Given the description of an element on the screen output the (x, y) to click on. 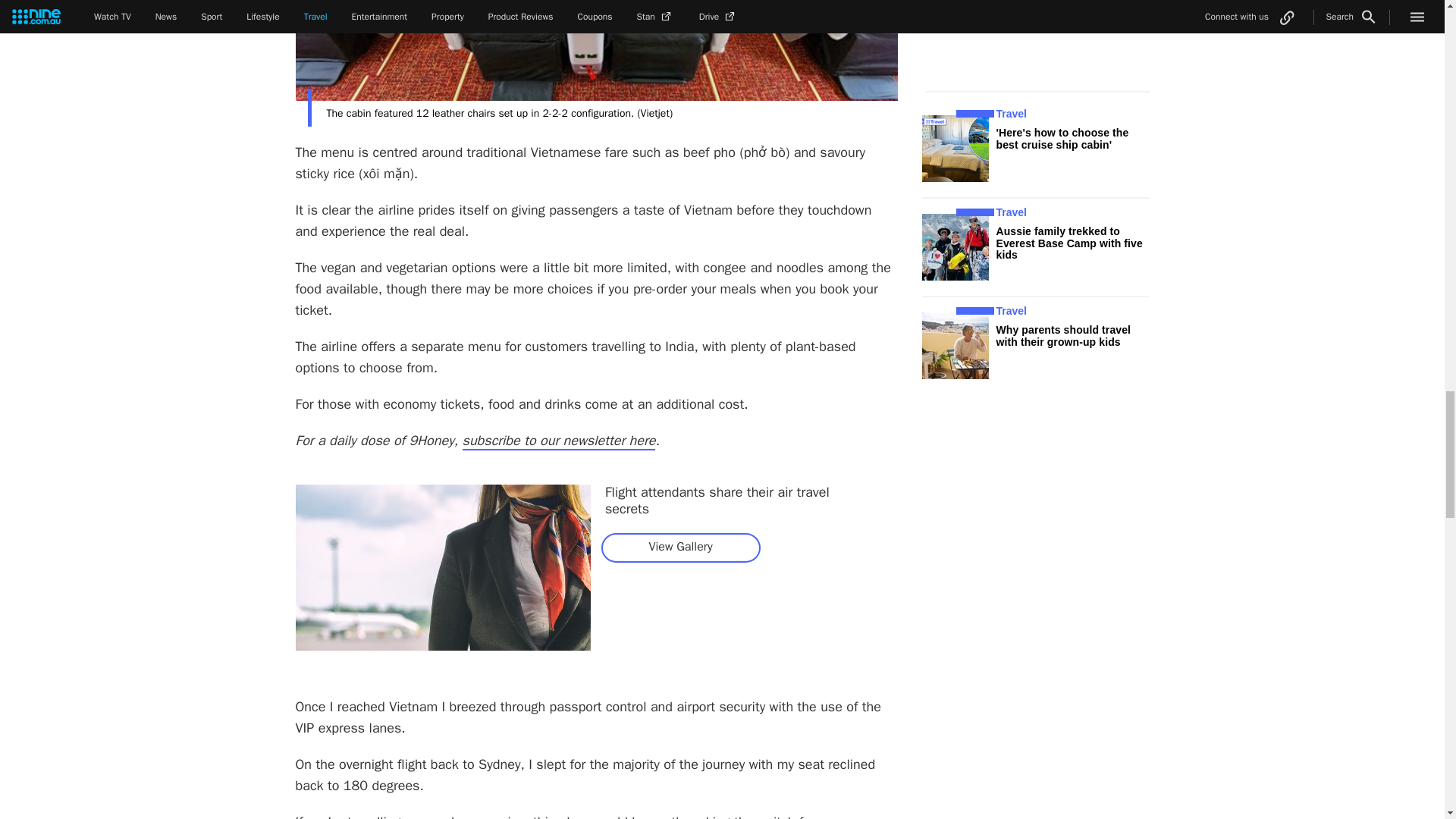
subscribe to our newsletter here (559, 441)
